Given the description of an element on the screen output the (x, y) to click on. 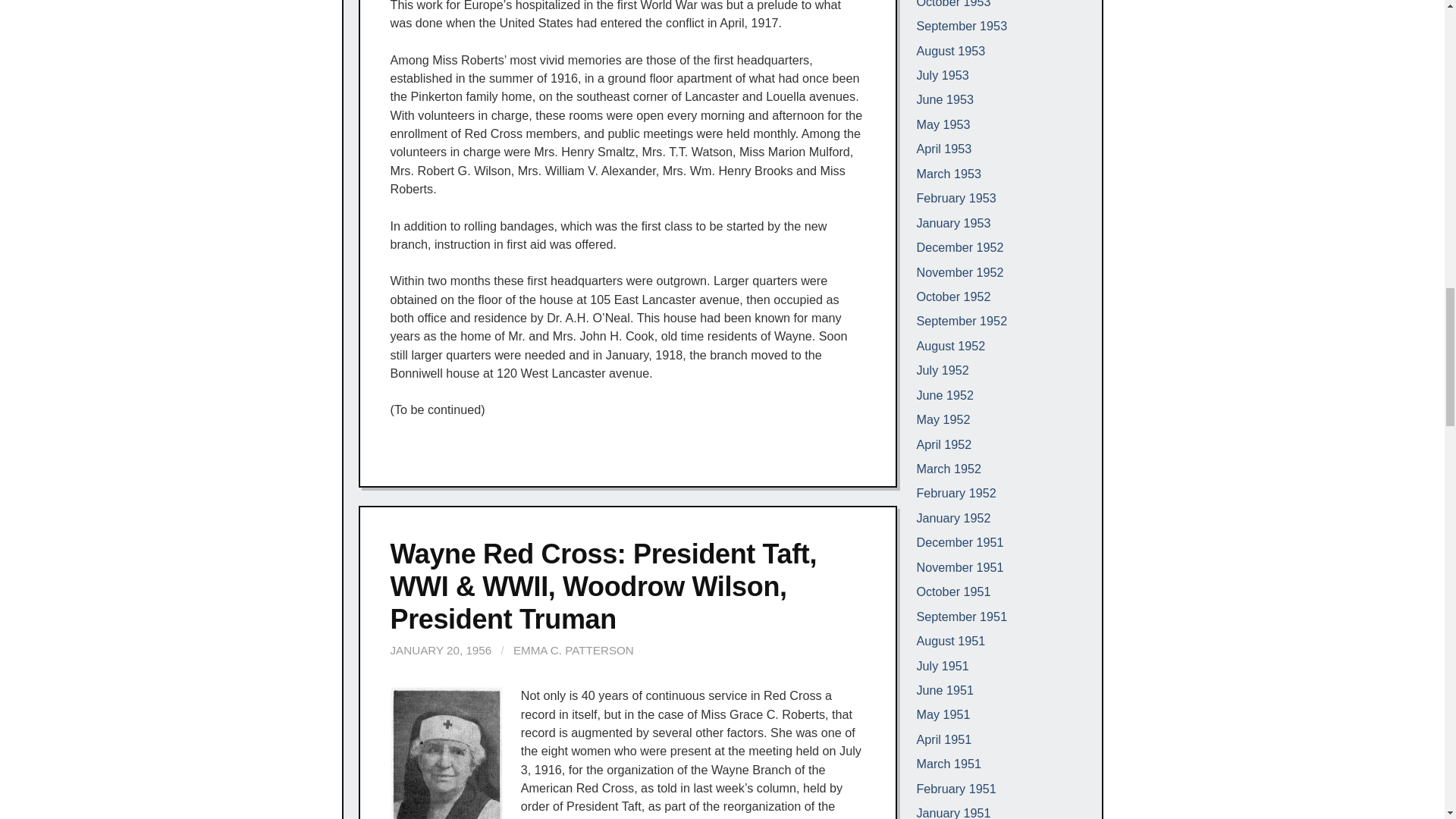
JANUARY 20, 1956 (441, 649)
EMMA C. PATTERSON (573, 649)
